Given the description of an element on the screen output the (x, y) to click on. 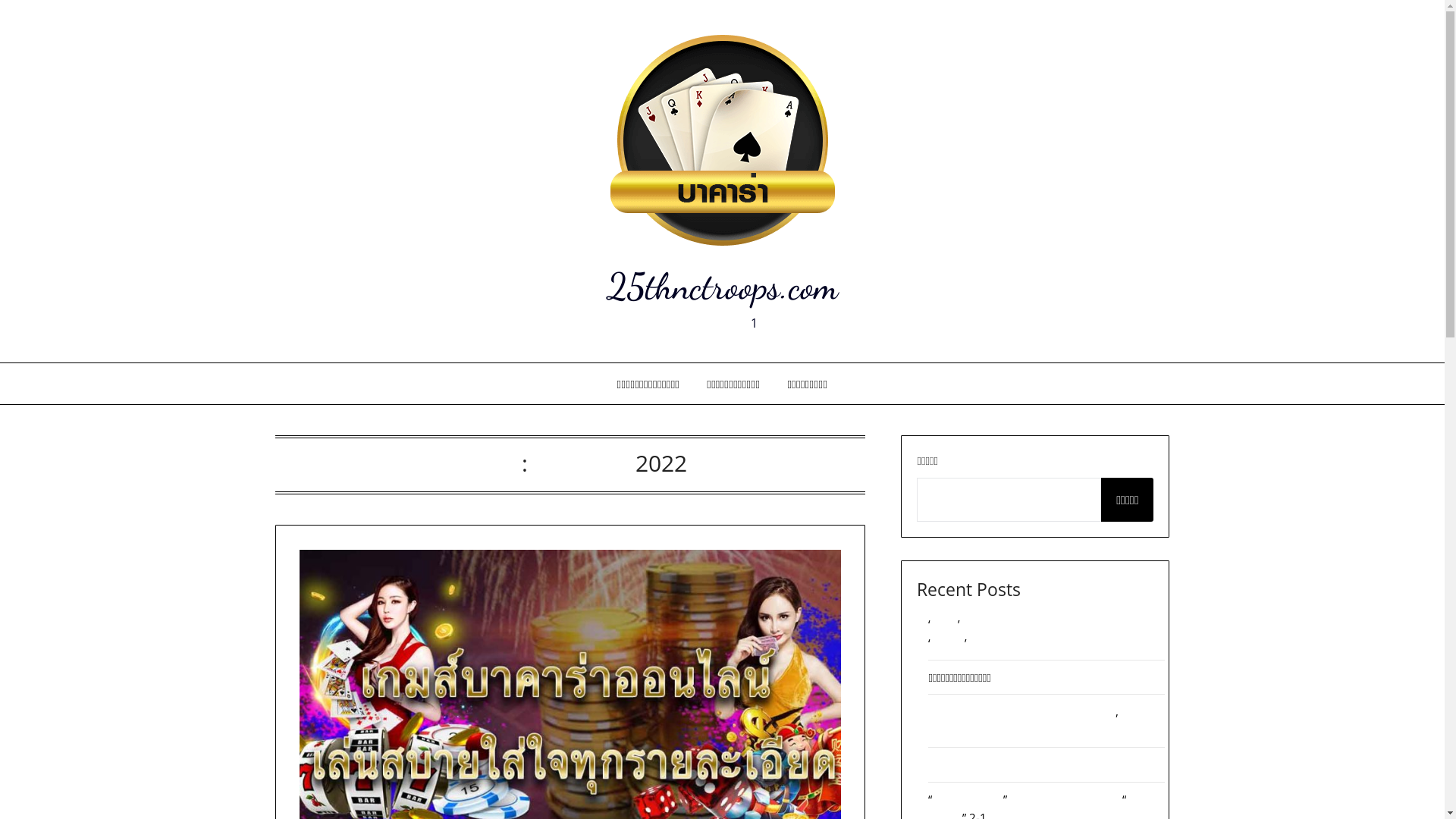
25thnctroops.com Element type: text (721, 285)
